Given the description of an element on the screen output the (x, y) to click on. 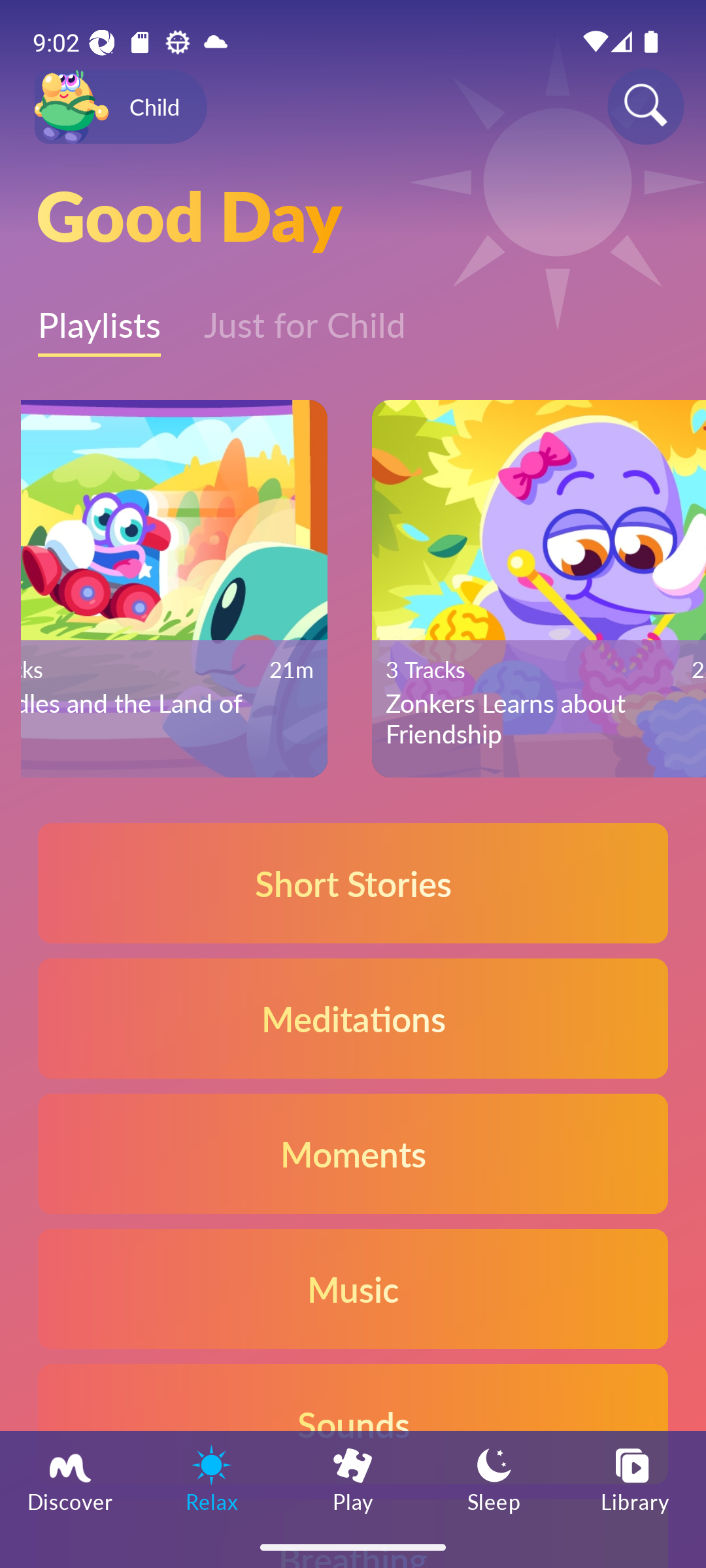
Profile icon Child (120, 107)
Just for Child (304, 315)
Short Stories (352, 883)
Meditations (352, 1017)
Moments (352, 1152)
Music (352, 1288)
Discover (70, 1478)
Play (352, 1478)
Sleep (493, 1478)
Library (635, 1478)
